Given the description of an element on the screen output the (x, y) to click on. 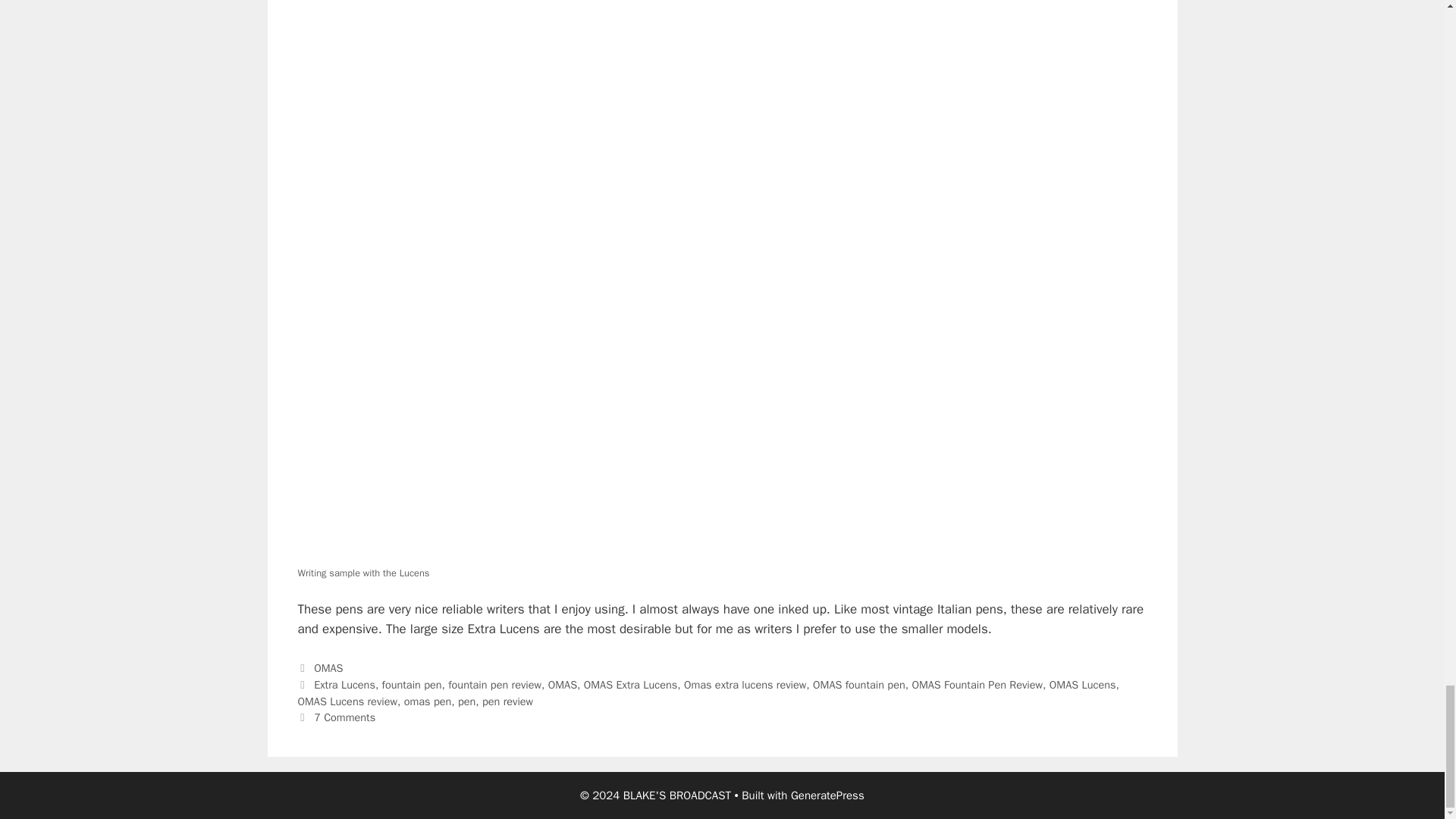
OMAS (328, 667)
omas pen (427, 701)
OMAS Lucens (1082, 684)
OMAS Lucens review (347, 701)
OMAS Extra Lucens (630, 684)
Extra Lucens (344, 684)
OMAS Fountain Pen Review (976, 684)
pen review (506, 701)
fountain pen review (494, 684)
pen (467, 701)
OMAS fountain pen (858, 684)
OMAS (562, 684)
Omas extra lucens review (745, 684)
fountain pen (411, 684)
7 Comments (344, 716)
